Given the description of an element on the screen output the (x, y) to click on. 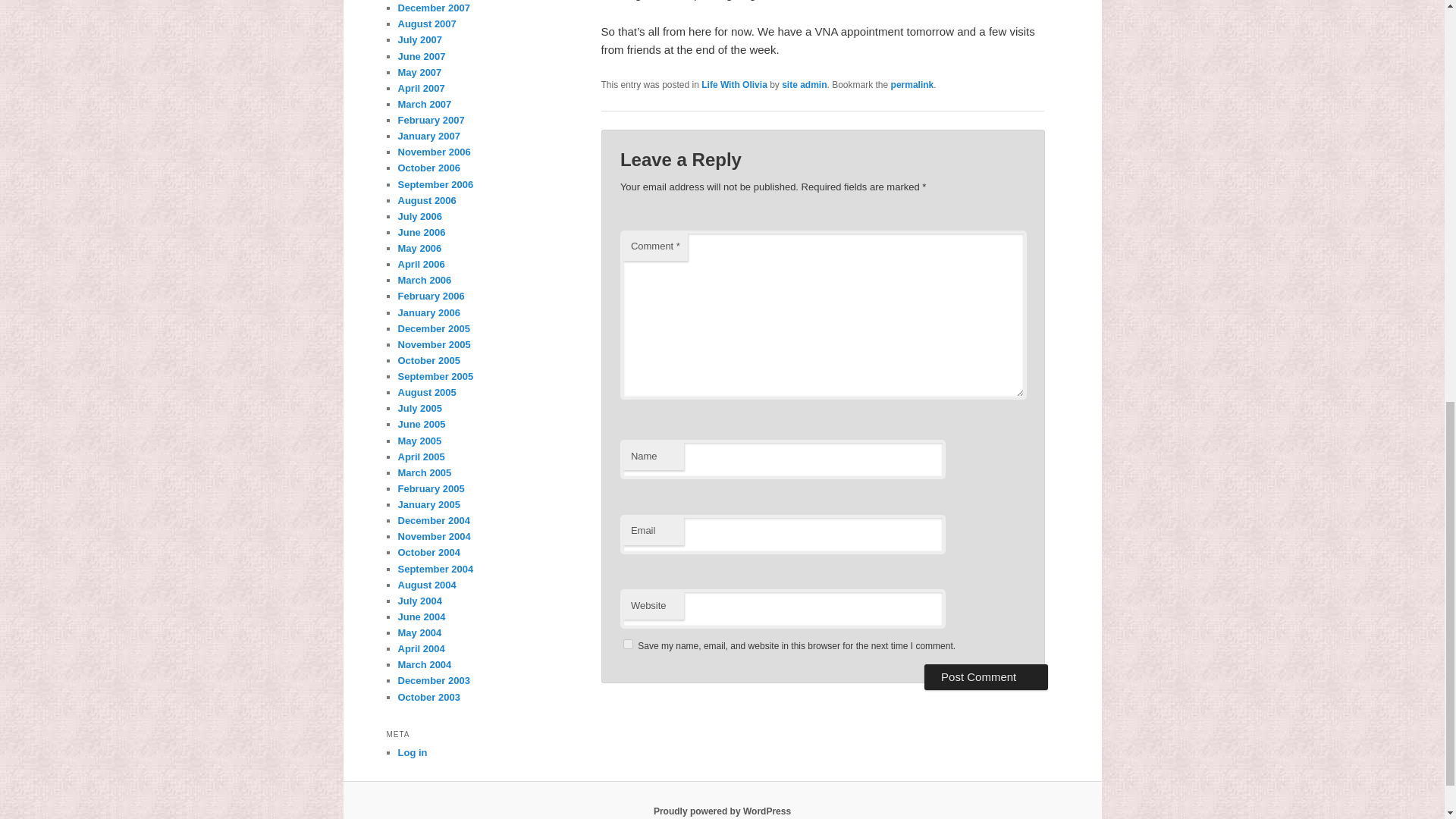
Post Comment (986, 677)
permalink (912, 84)
yes (628, 644)
Life With Olivia (734, 84)
Post Comment (986, 677)
site admin (804, 84)
Semantic Personal Publishing Platform (721, 810)
Permalink to Random Thoughts (912, 84)
